Given the description of an element on the screen output the (x, y) to click on. 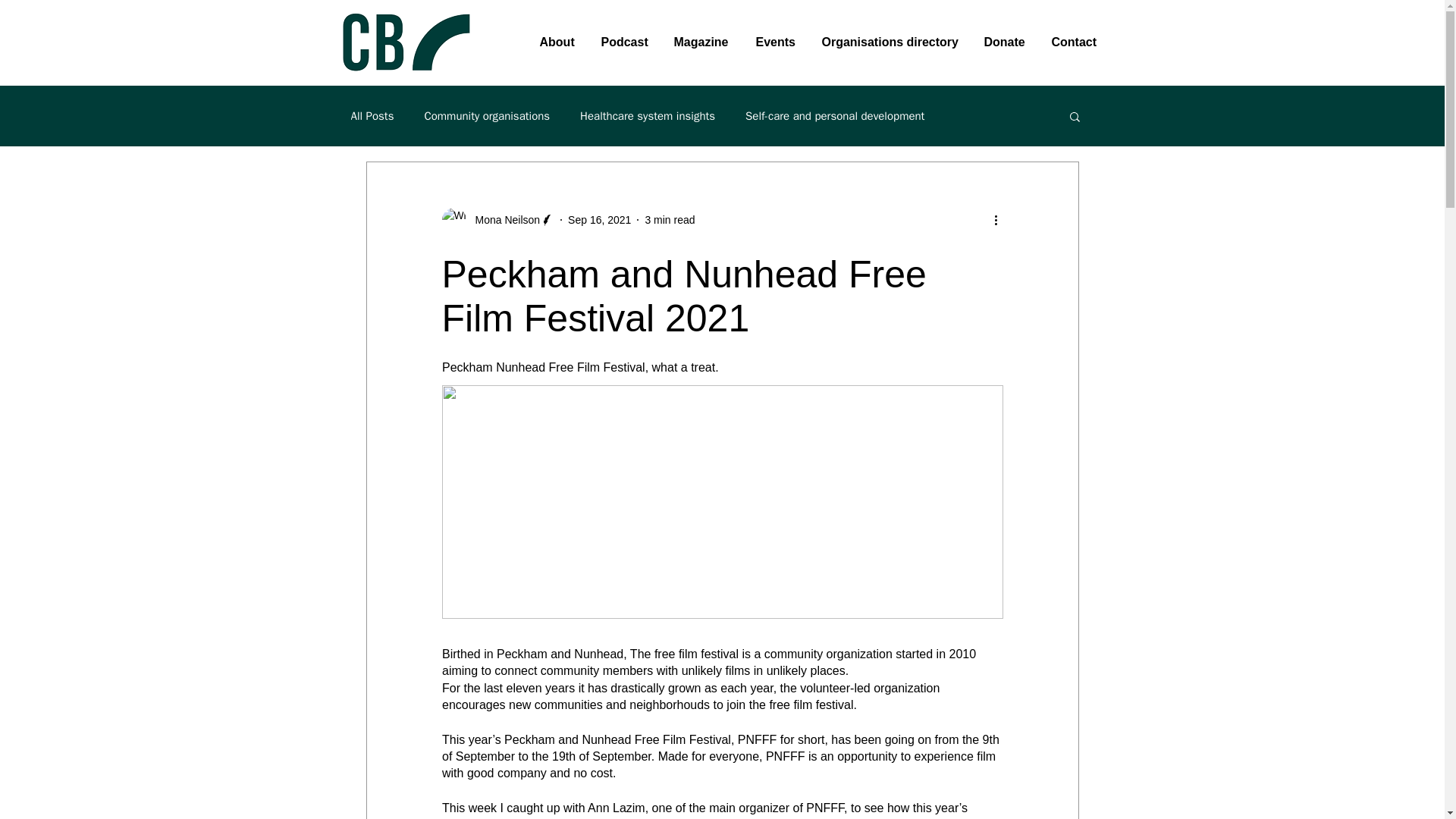
Podcast (625, 42)
About (557, 42)
Events (776, 42)
Donate (1005, 42)
Mona Neilson (502, 220)
Organisations directory (890, 42)
All Posts (371, 115)
3 min read (669, 219)
Community organisations (486, 115)
Magazine (703, 42)
Contact (1075, 42)
Self-care and personal development (834, 115)
Sep 16, 2021 (598, 219)
Healthcare system insights (646, 115)
